Given the description of an element on the screen output the (x, y) to click on. 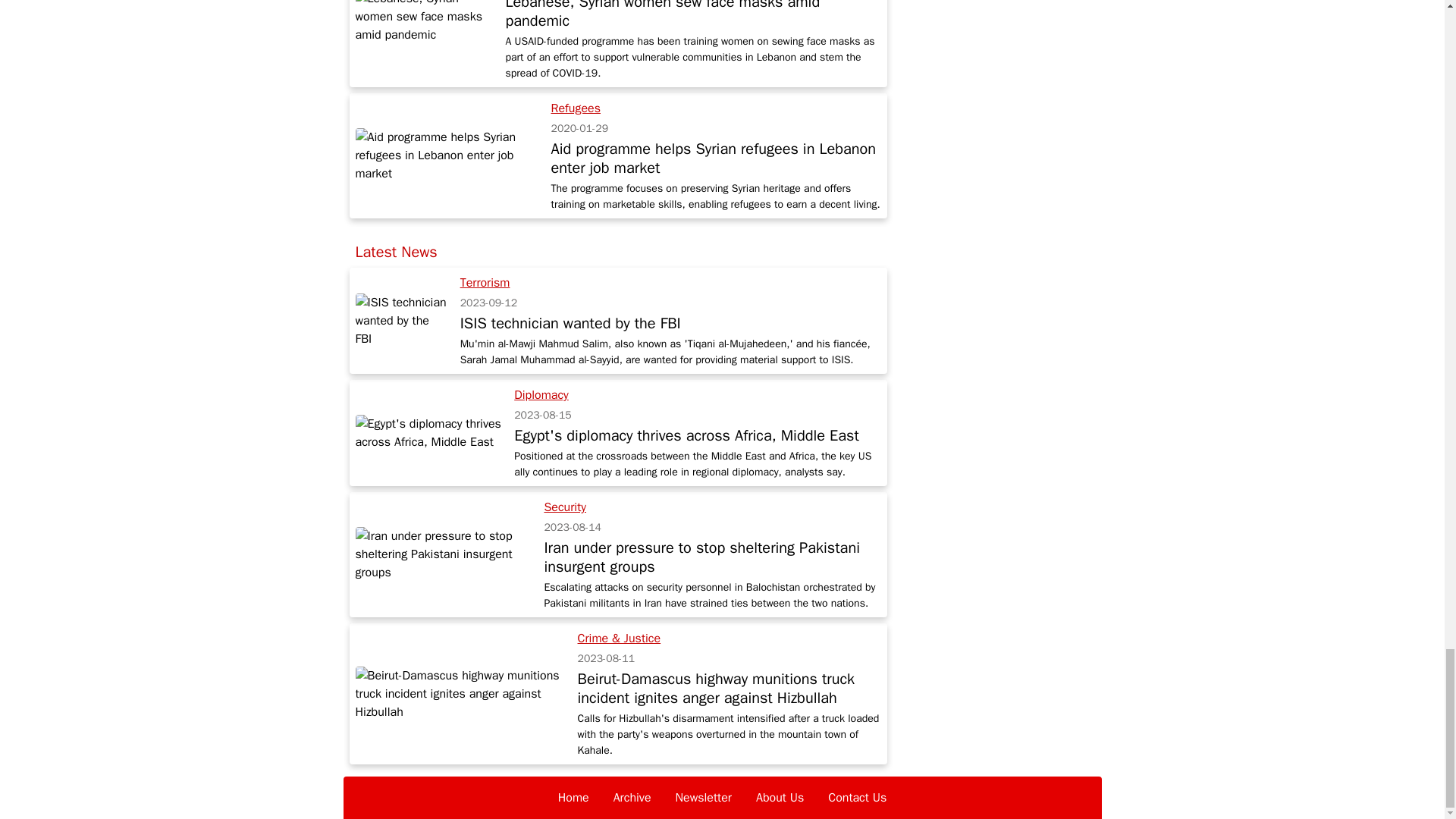
Security (564, 507)
Refugees (576, 108)
Diplomacy (541, 394)
Terrorism (485, 282)
